Given the description of an element on the screen output the (x, y) to click on. 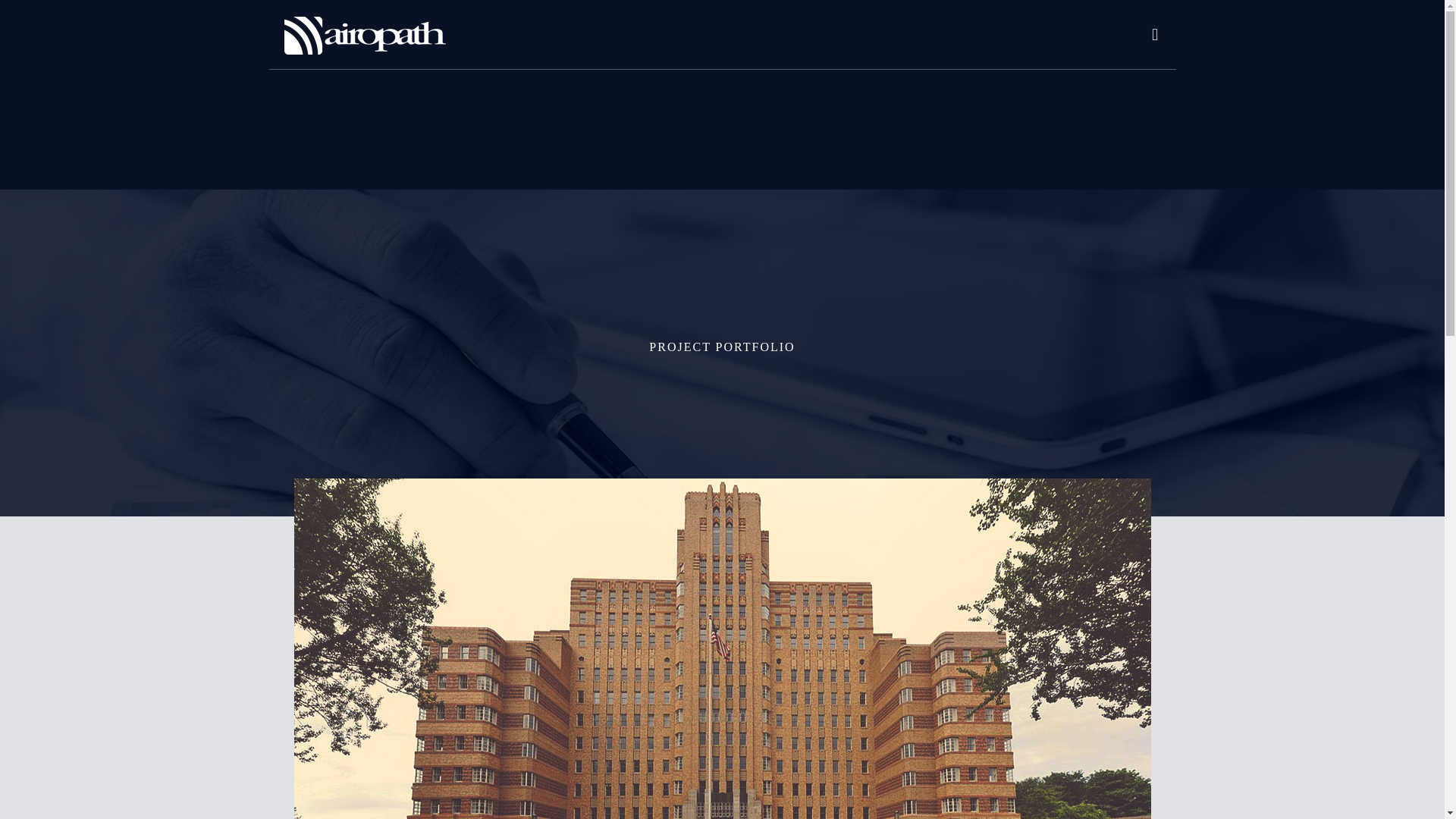
Airopath (364, 34)
Get In Touch (775, 626)
ZIGZOZE (869, 777)
Who We Are (631, 599)
What We Do (631, 545)
The AiroBlog (636, 626)
Project Portfolio (781, 599)
Facebook (705, 797)
Healthcare Services (661, 572)
LinkedIn (738, 797)
Our Expertise (768, 545)
